Given the description of an element on the screen output the (x, y) to click on. 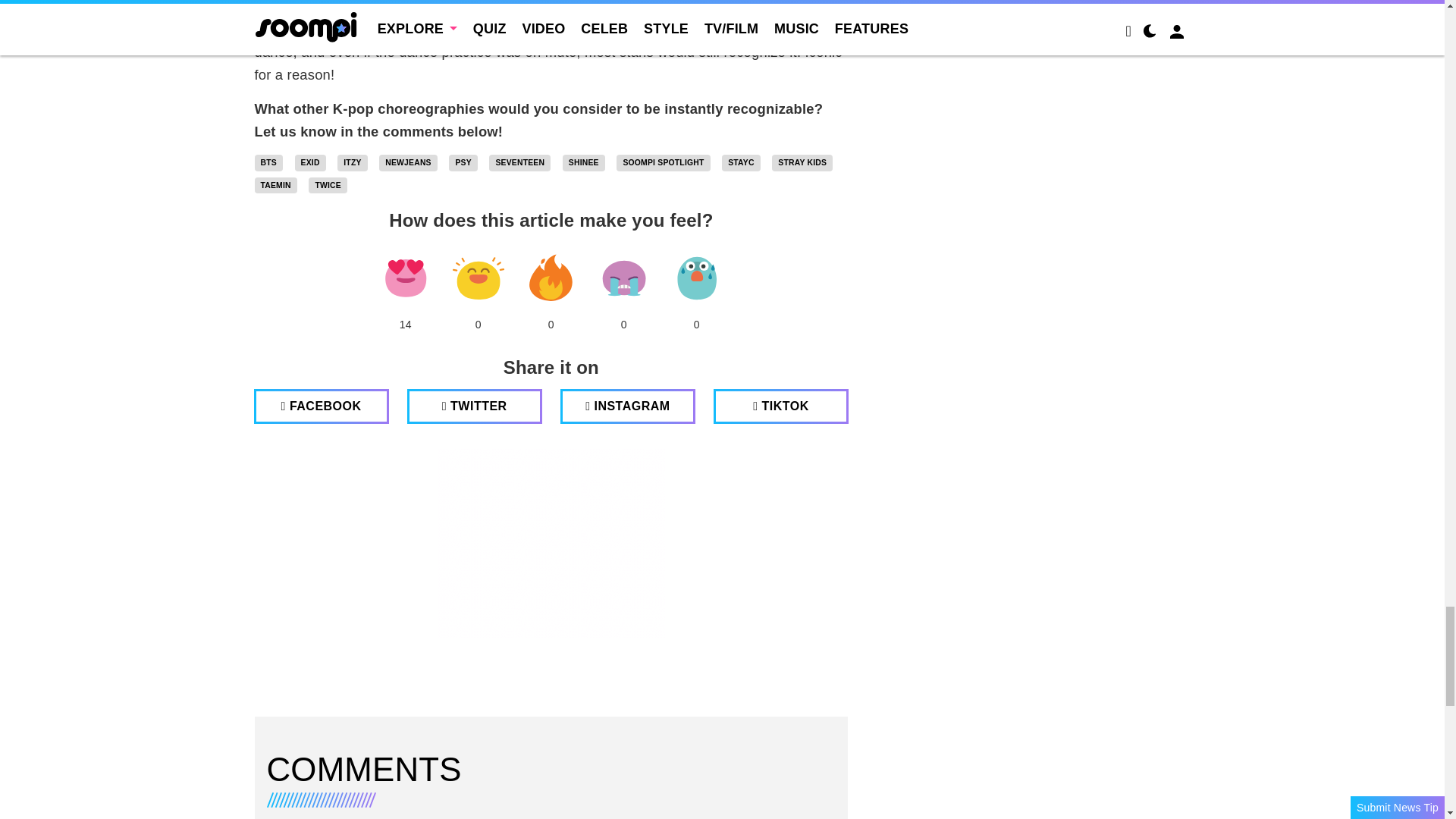
TWICE (327, 185)
SHINee (583, 162)
PSY (462, 162)
STAYC (741, 162)
BTS (268, 162)
BTS (268, 162)
Taemin (275, 185)
Stray Kids (801, 162)
SEVENTEEN (519, 162)
NewJeans (408, 162)
